Given the description of an element on the screen output the (x, y) to click on. 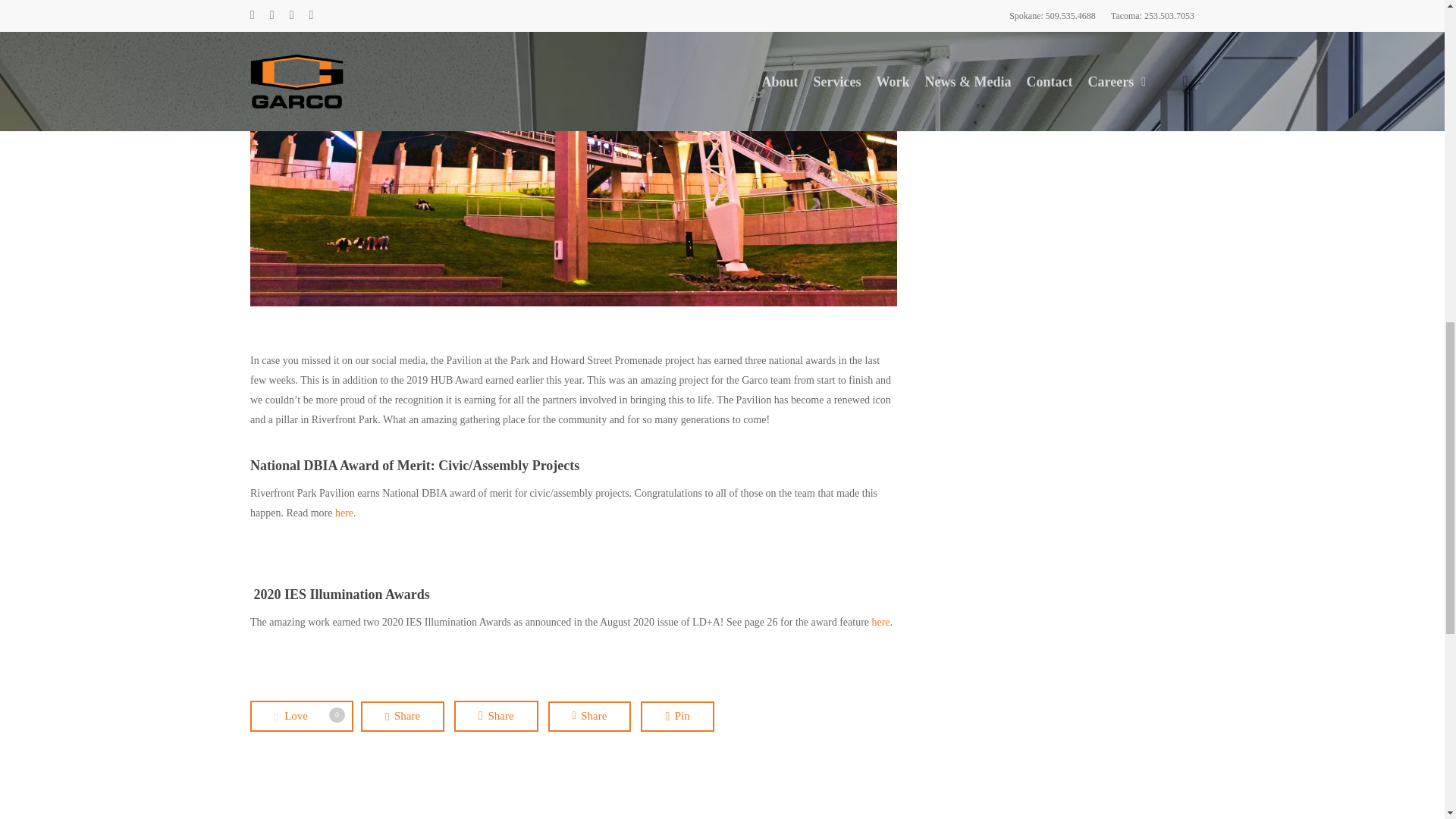
Share this (402, 716)
Love this (301, 716)
Share this (589, 716)
Pin this (676, 716)
Share this (496, 716)
